Given the description of an element on the screen output the (x, y) to click on. 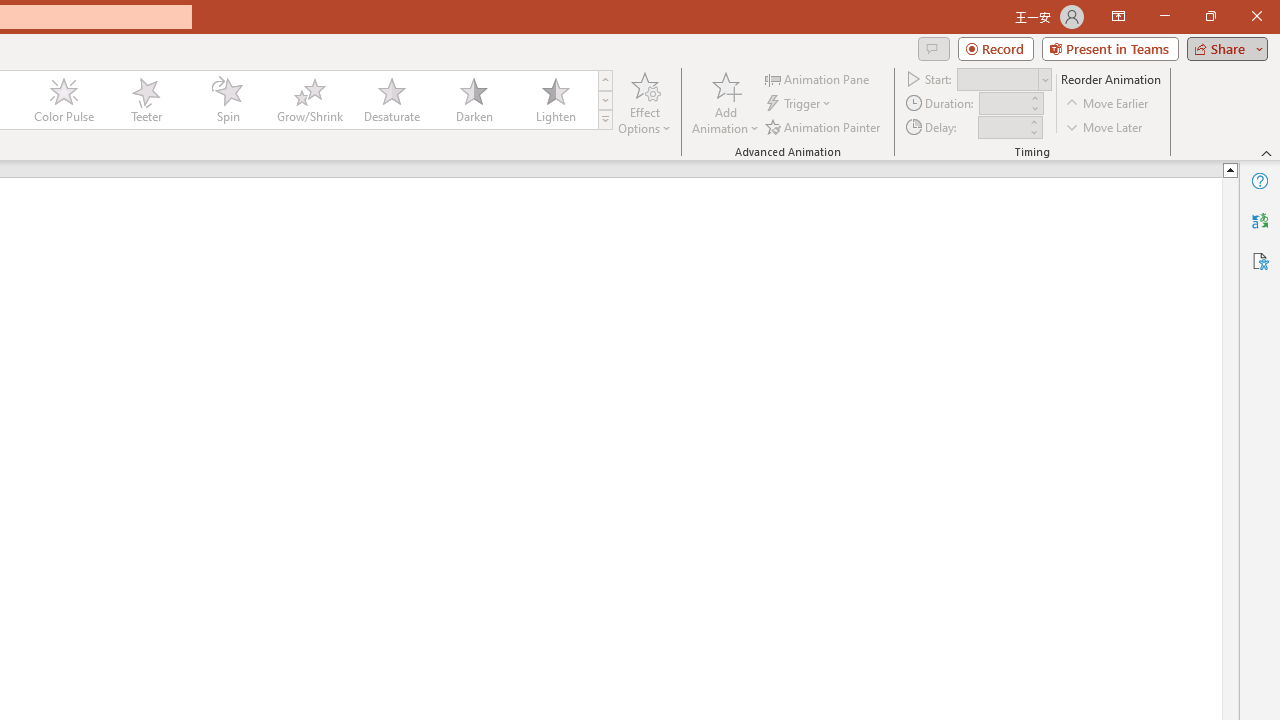
Collapse the Ribbon (1267, 152)
Minimize (1164, 16)
Effect Options (644, 102)
Row up (605, 79)
Animation Pane (818, 78)
Spin (227, 100)
Color Pulse (63, 100)
Darken (473, 100)
Grow/Shrink (309, 100)
Move Later (1105, 126)
Animation Painter (824, 126)
Desaturate (391, 100)
Line up (1230, 169)
Translator (1260, 220)
